Given the description of an element on the screen output the (x, y) to click on. 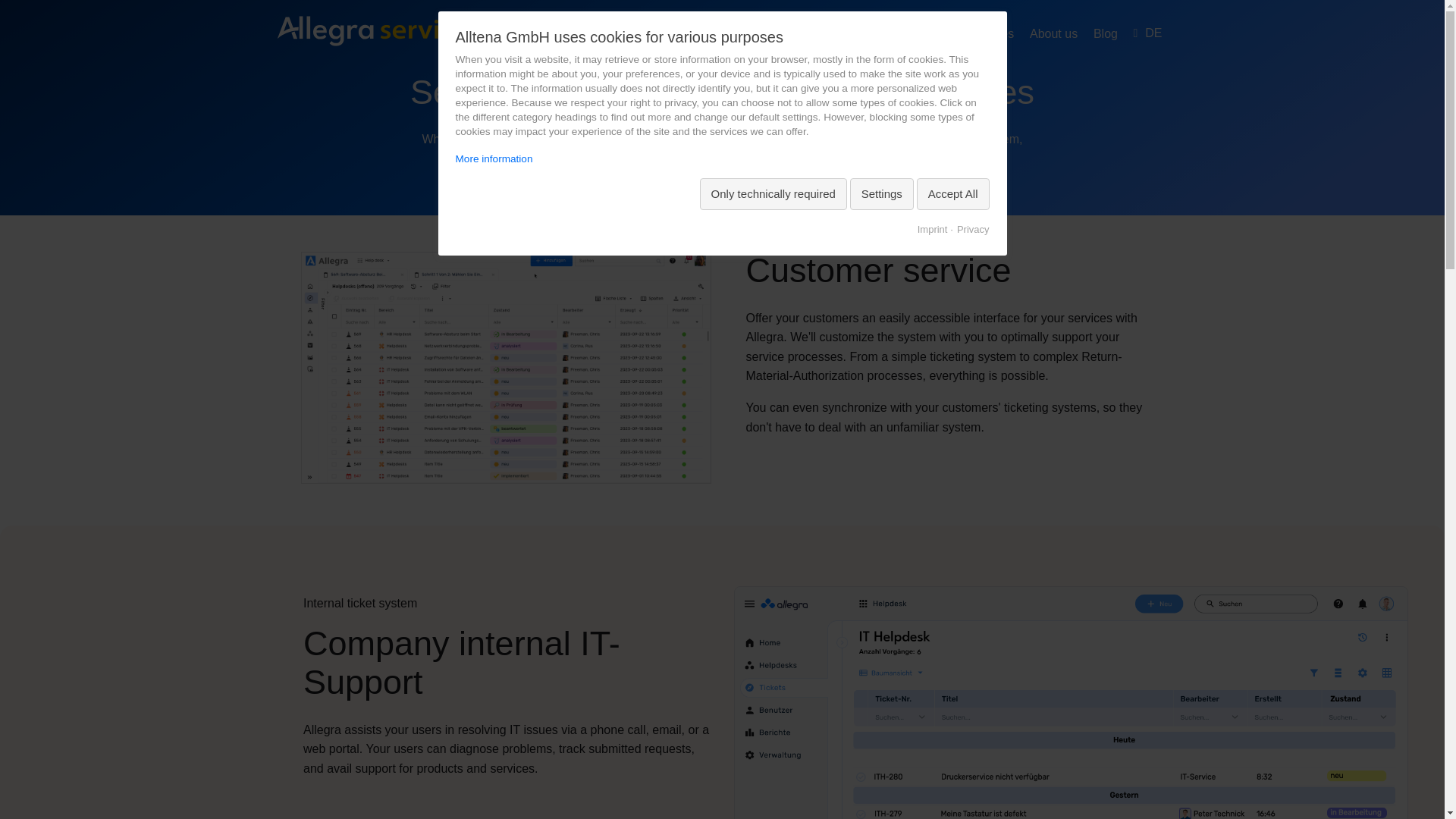
Resources (930, 33)
About us (1053, 33)
Service Desk (372, 30)
Prices (997, 33)
Products (765, 33)
